Given the description of an element on the screen output the (x, y) to click on. 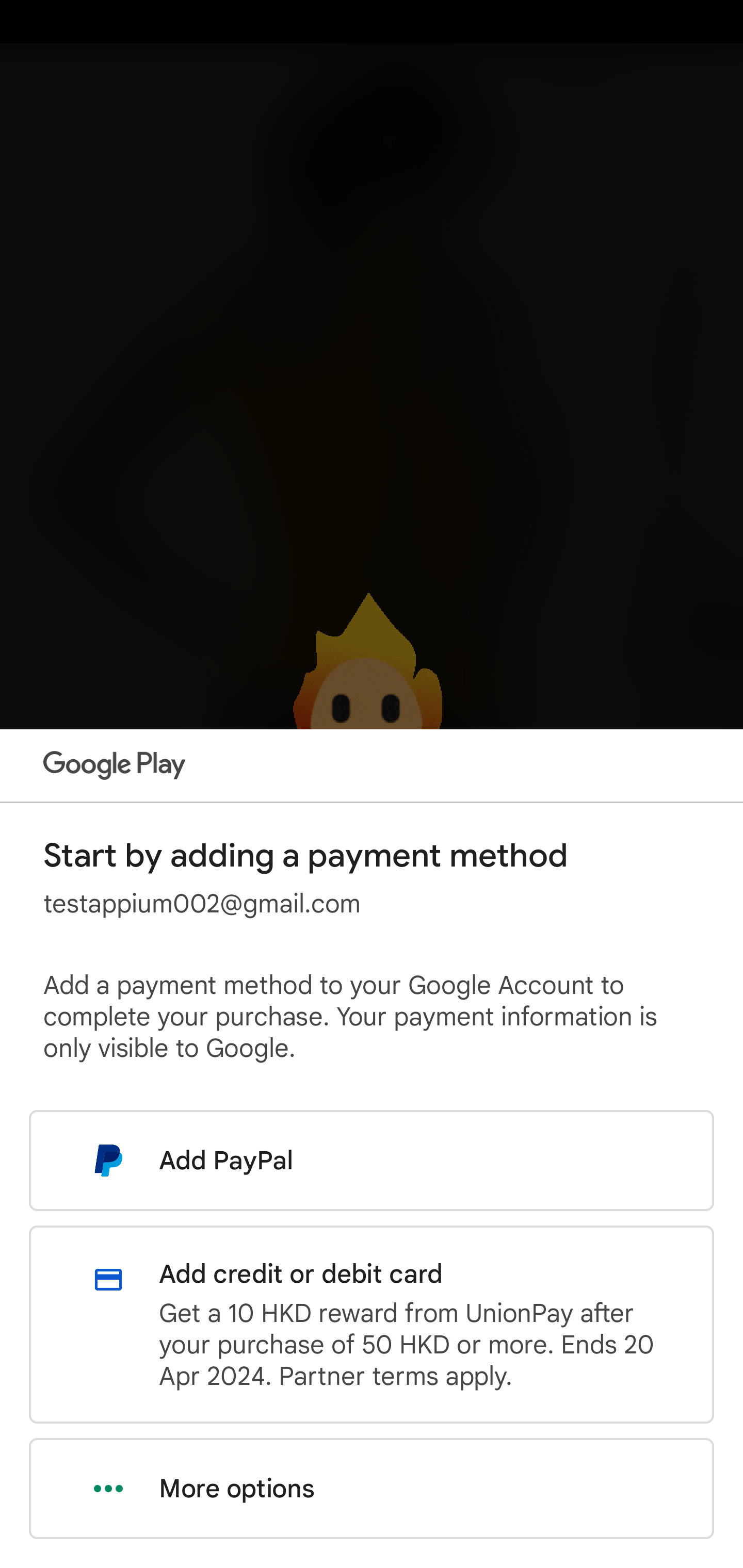
Add PayPal (371, 1160)
More options (371, 1488)
